Given the description of an element on the screen output the (x, y) to click on. 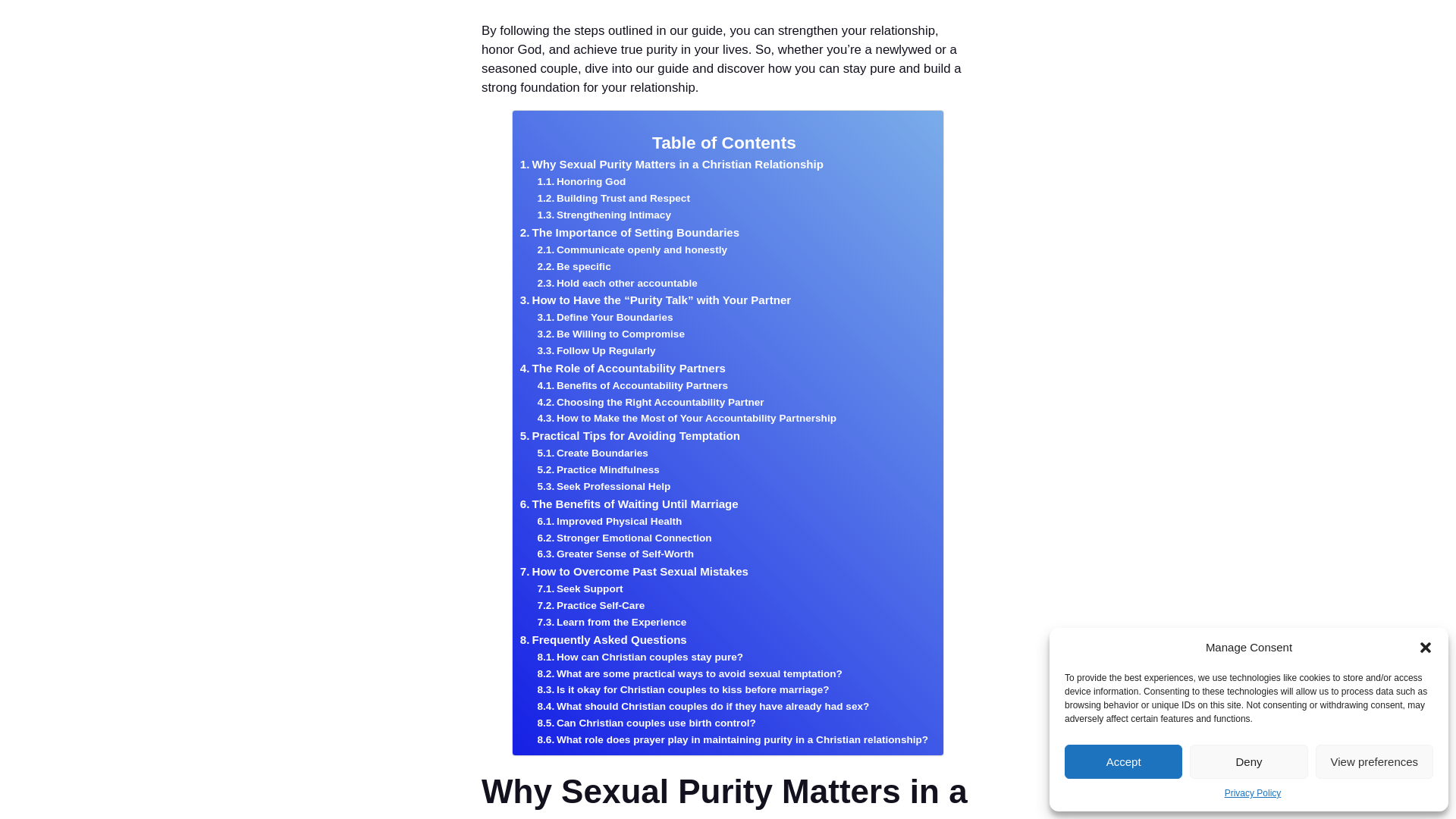
Define Your Boundaries (604, 317)
Be Willing to Compromise (610, 334)
Be specific (574, 266)
Why Sexual Purity Matters in a Christian Relationship (671, 164)
Benefits of Accountability Partners (633, 385)
Communicate openly and honestly (632, 249)
Why Sexual Purity Matters in a Christian Relationship (671, 164)
Building Trust and Respect (613, 198)
Honoring God (581, 181)
The Role of Accountability Partners (622, 368)
Define Your Boundaries (604, 317)
Building Trust and Respect (613, 198)
The Role of Accountability Partners (622, 368)
Follow Up Regularly (596, 351)
The Importance of Setting Boundaries (629, 232)
